Given the description of an element on the screen output the (x, y) to click on. 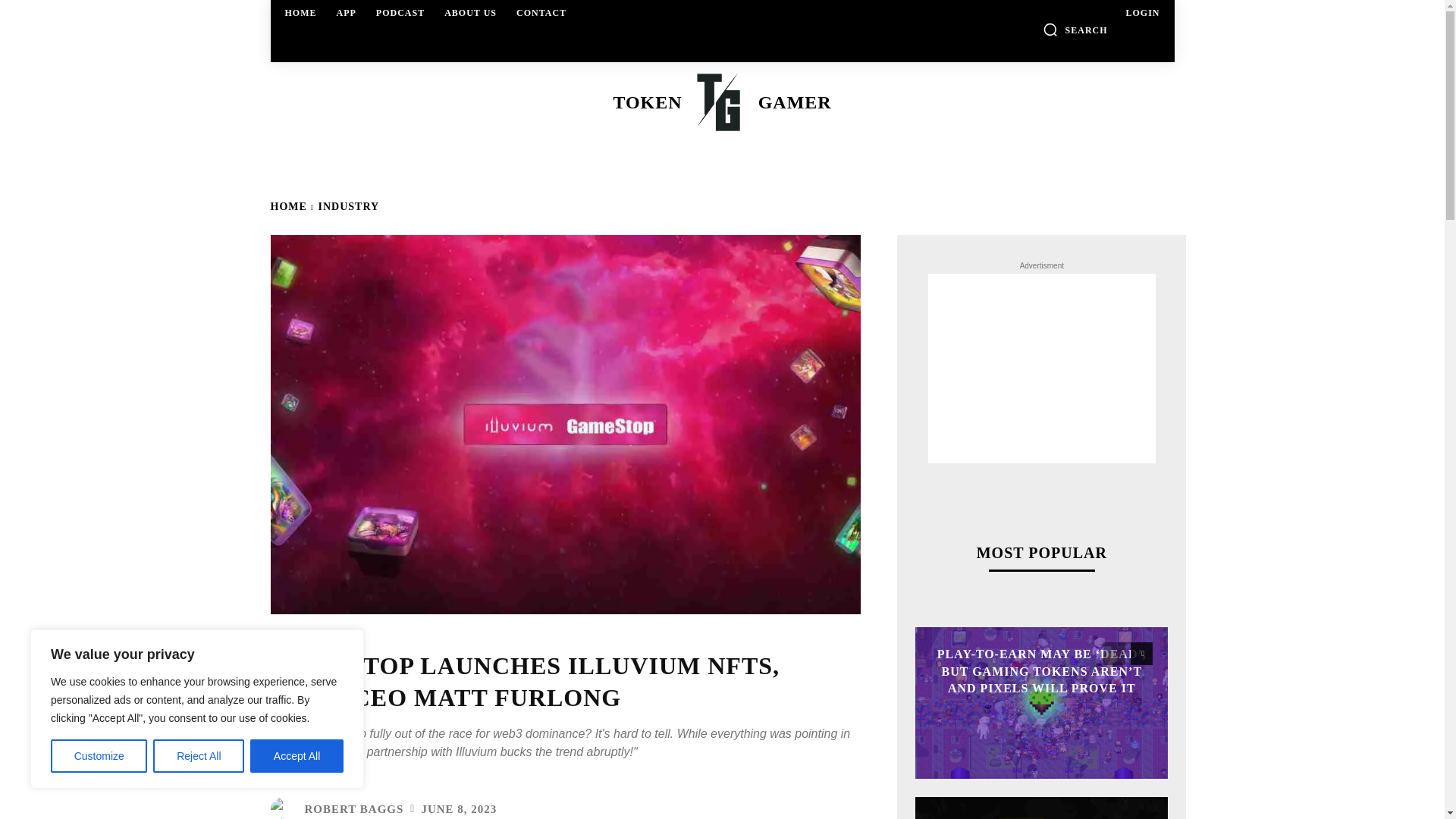
HOME (301, 12)
ABOUT US (469, 12)
Token Gamer (721, 102)
View all posts in Industry (349, 206)
Customize (98, 756)
SEARCH (1075, 29)
LOGIN (1141, 12)
Robert Baggs (284, 808)
Reject All (198, 756)
Token Gamer (720, 102)
PODCAST (400, 12)
CONTACT (540, 12)
APP (346, 12)
Accept All (296, 756)
